Given the description of an element on the screen output the (x, y) to click on. 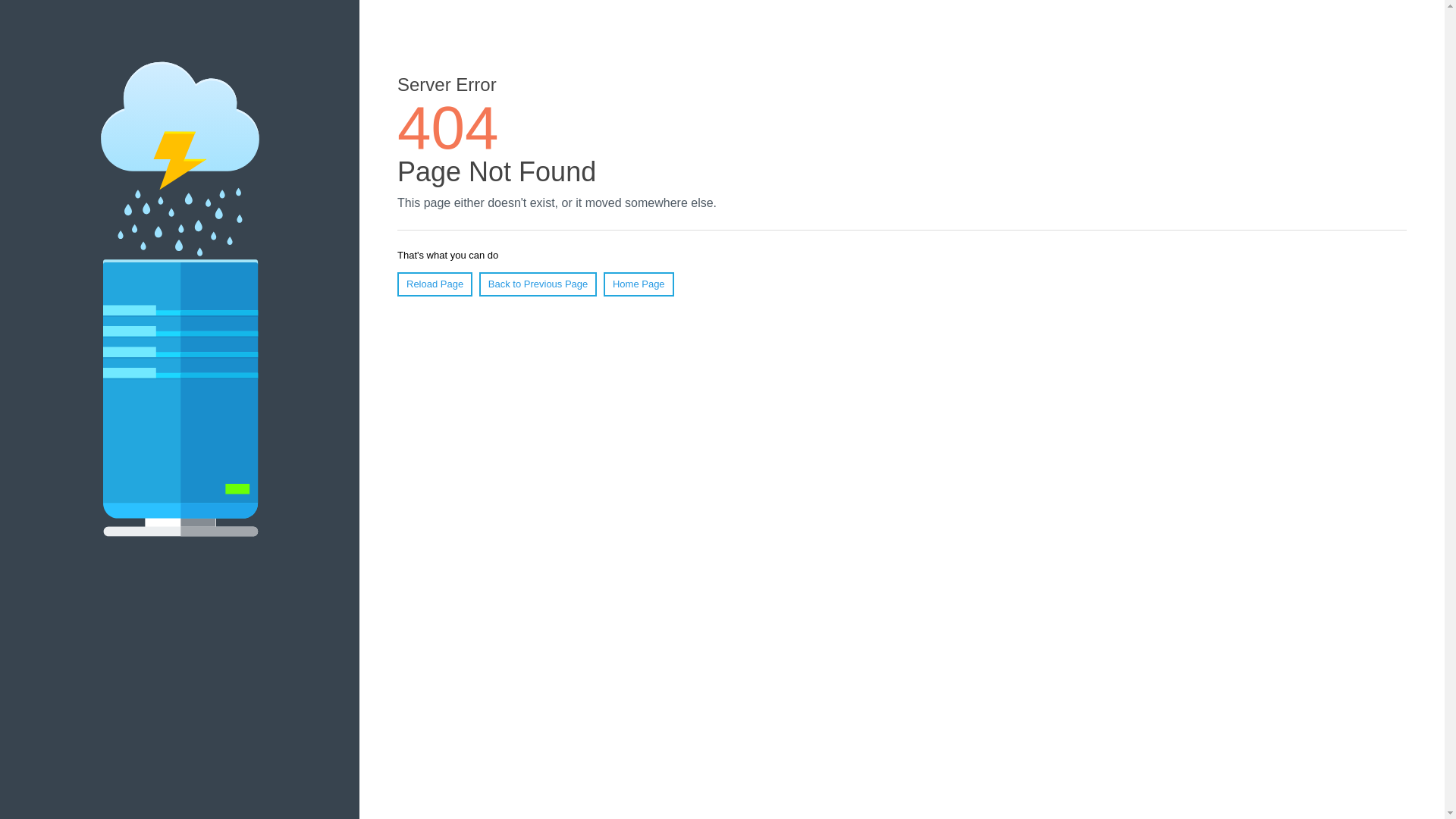
Home Page Element type: text (638, 284)
Reload Page Element type: text (434, 284)
Back to Previous Page Element type: text (538, 284)
